Given the description of an element on the screen output the (x, y) to click on. 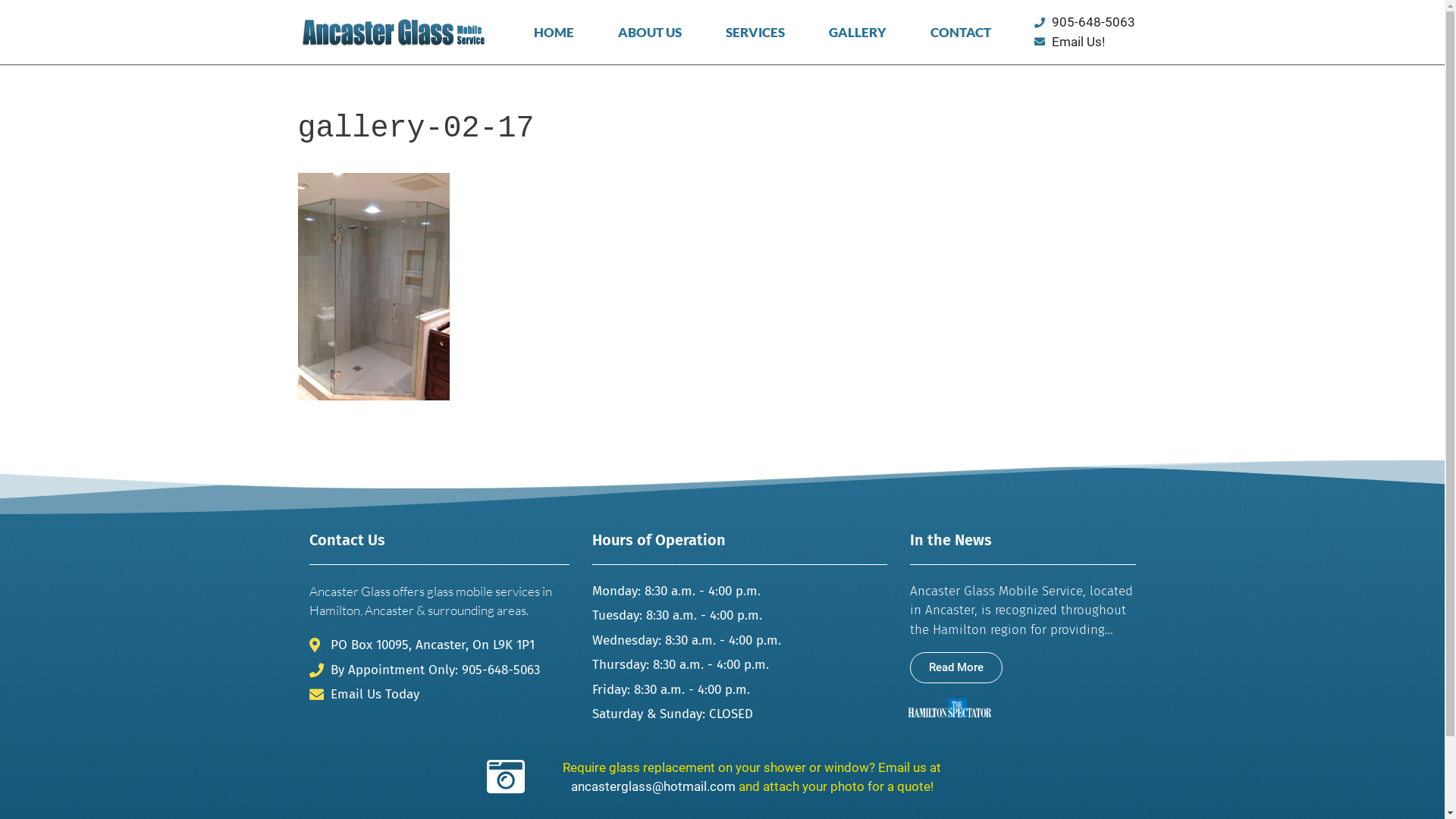
GALLERY Element type: text (857, 32)
CONTACT Element type: text (960, 32)
Email Us Today Element type: text (439, 694)
ancasterglass@hotmail.com Element type: text (652, 785)
Read More Element type: text (956, 667)
SERVICES Element type: text (754, 32)
By Appointment Only: 905-648-5063 Element type: text (439, 669)
905-648-5063 Element type: text (1090, 22)
ABOUT US Element type: text (649, 32)
Email Us! Element type: text (1090, 41)
HOME Element type: text (553, 32)
